Given the description of an element on the screen output the (x, y) to click on. 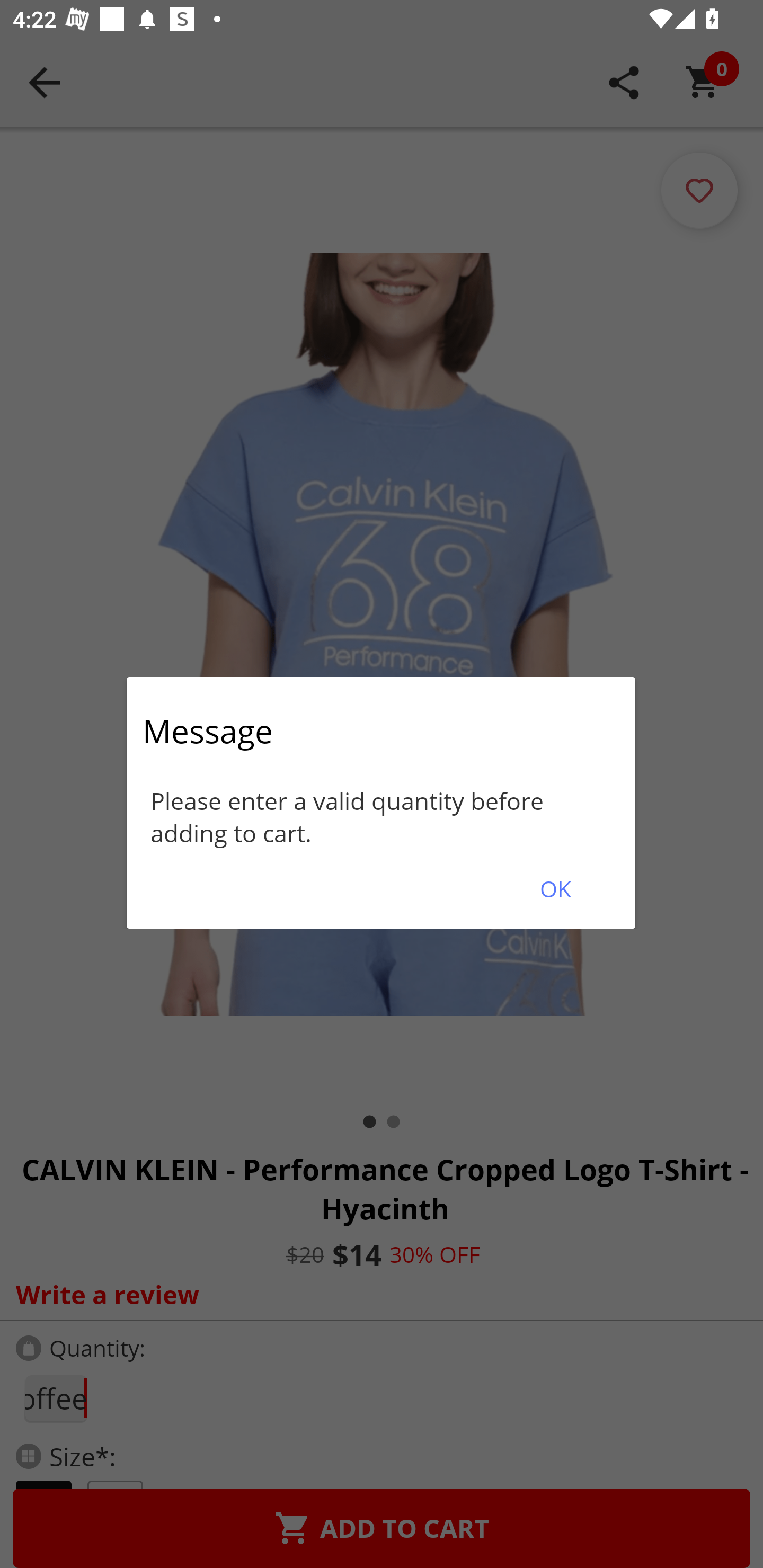
OK (555, 888)
